Given the description of an element on the screen output the (x, y) to click on. 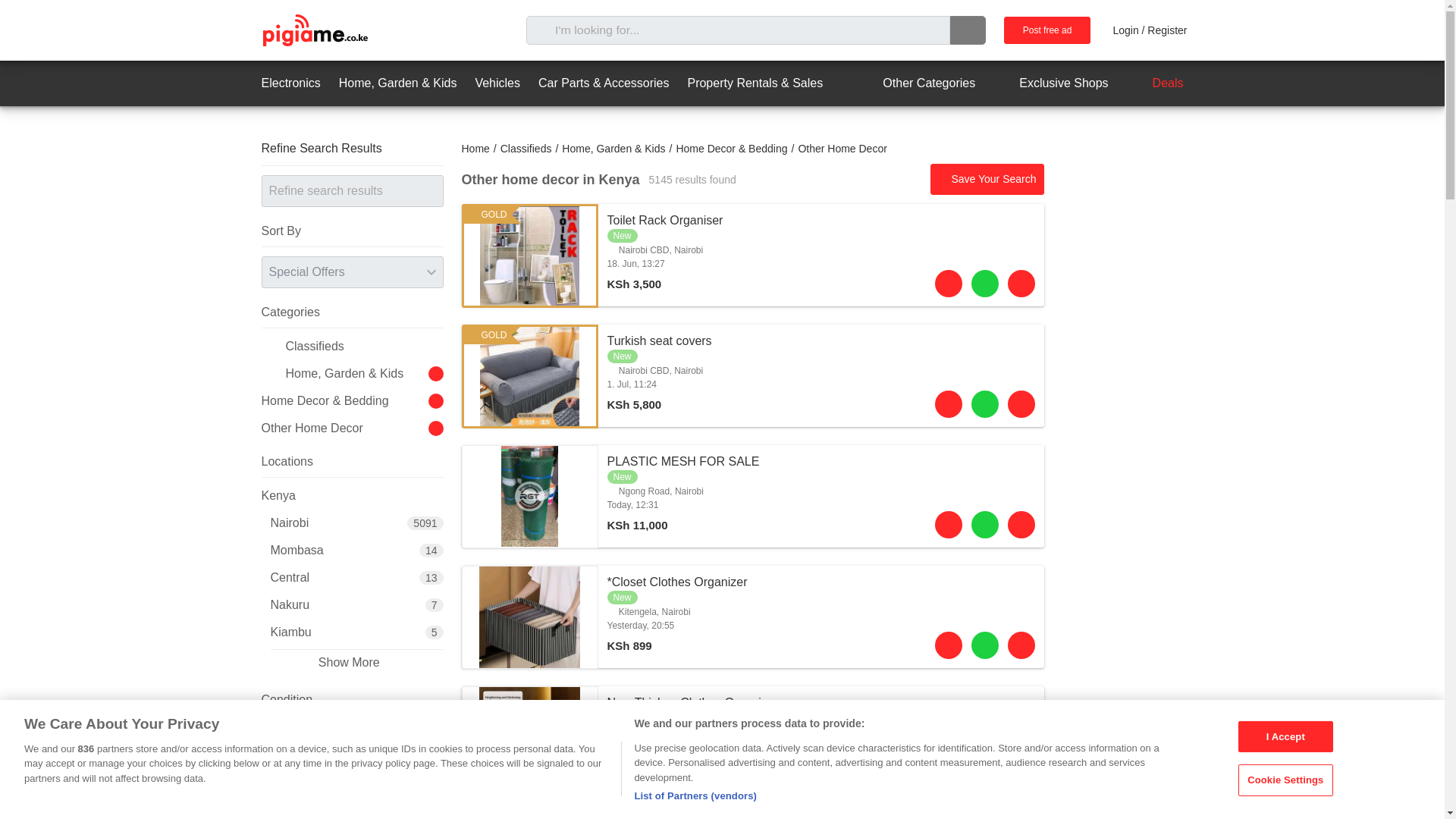
Exclusive Shops (1050, 83)
Other Categories (915, 83)
Home (475, 148)
Electronics (290, 83)
Deals (1155, 83)
Classifieds (525, 148)
Post free ad (1047, 30)
Vehicles (497, 83)
Other Home Decor (841, 148)
PigiaMe (314, 29)
